Given the description of an element on the screen output the (x, y) to click on. 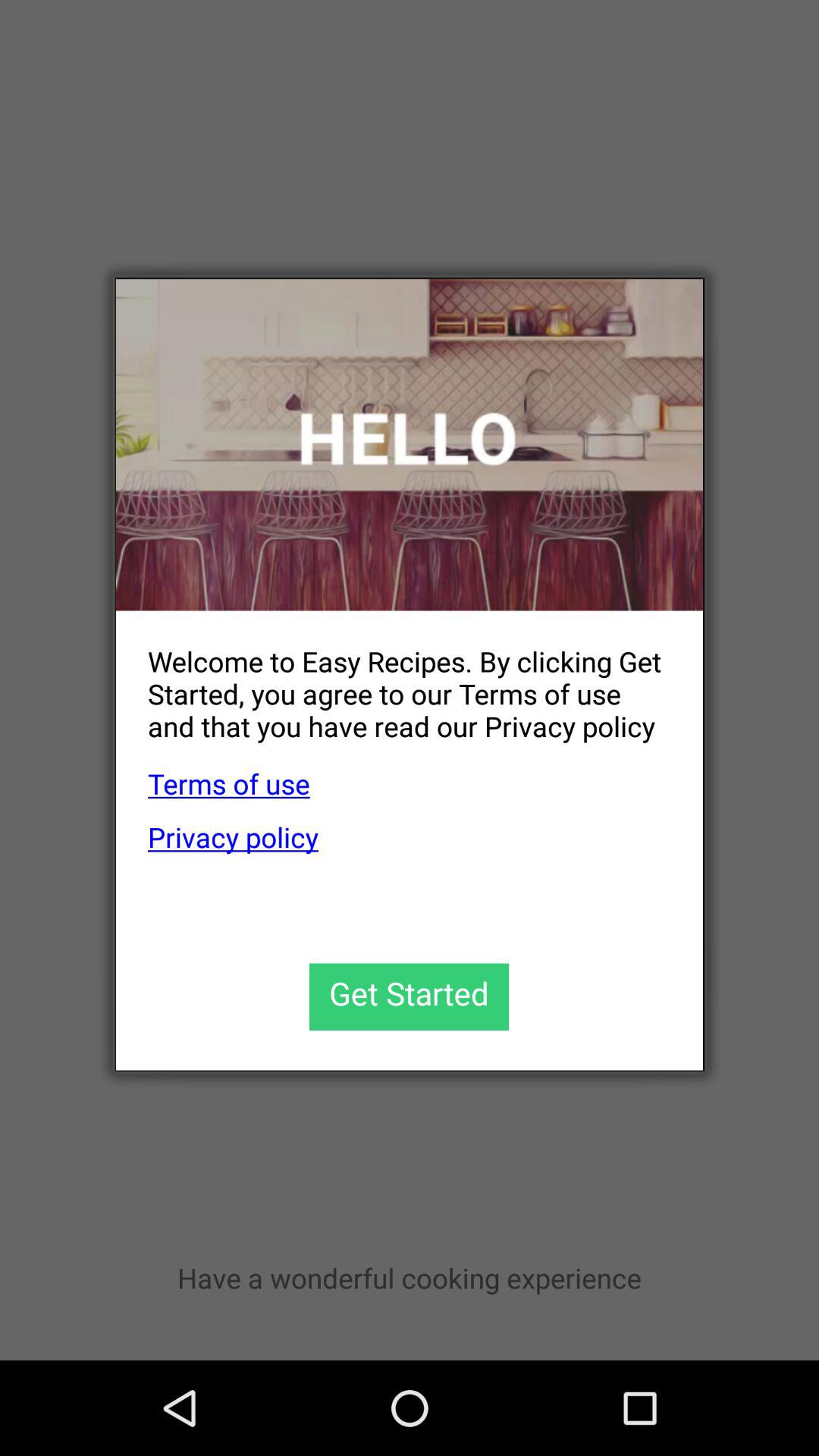
select get started (409, 996)
